Given the description of an element on the screen output the (x, y) to click on. 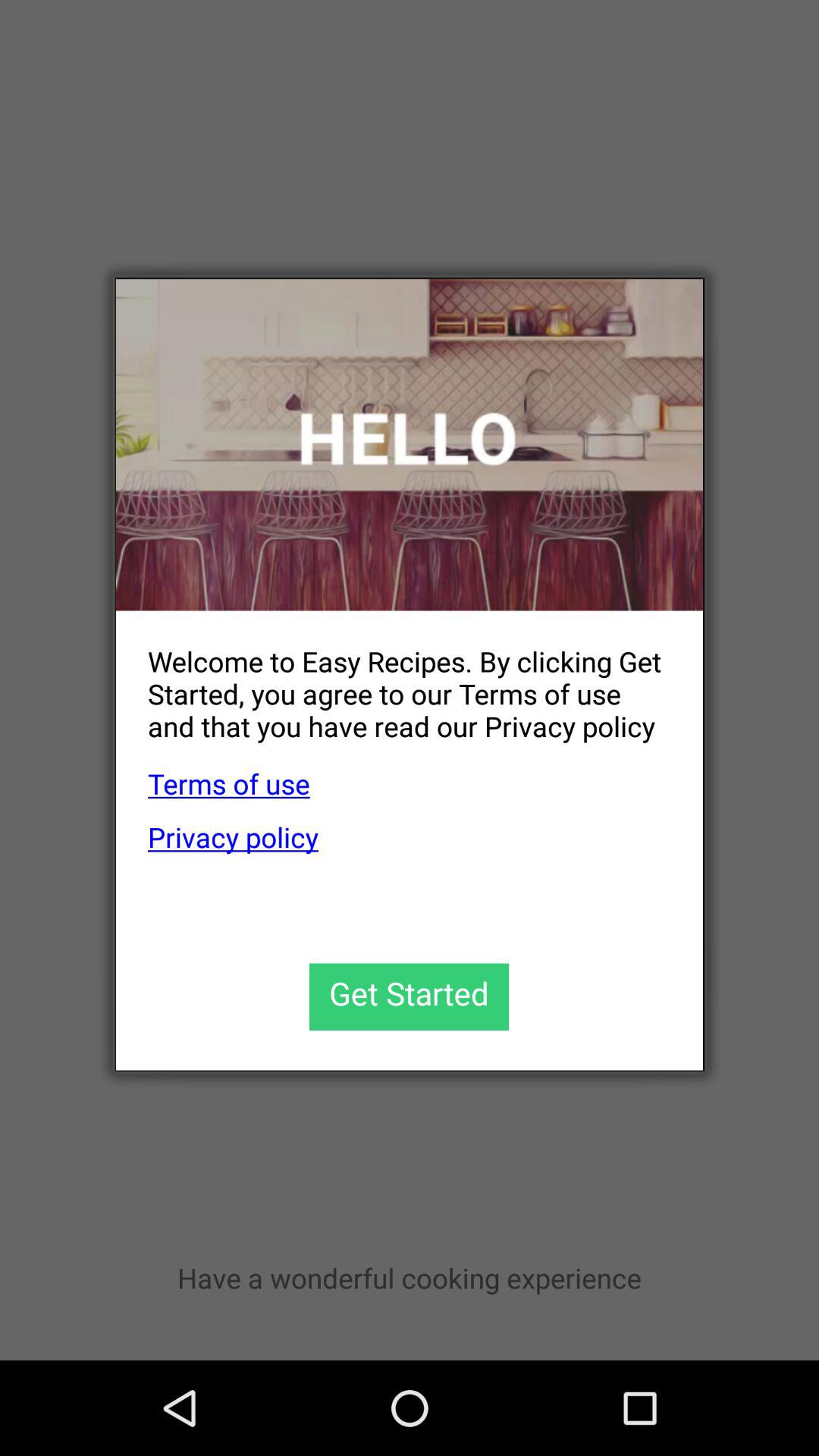
select get started (409, 996)
